Given the description of an element on the screen output the (x, y) to click on. 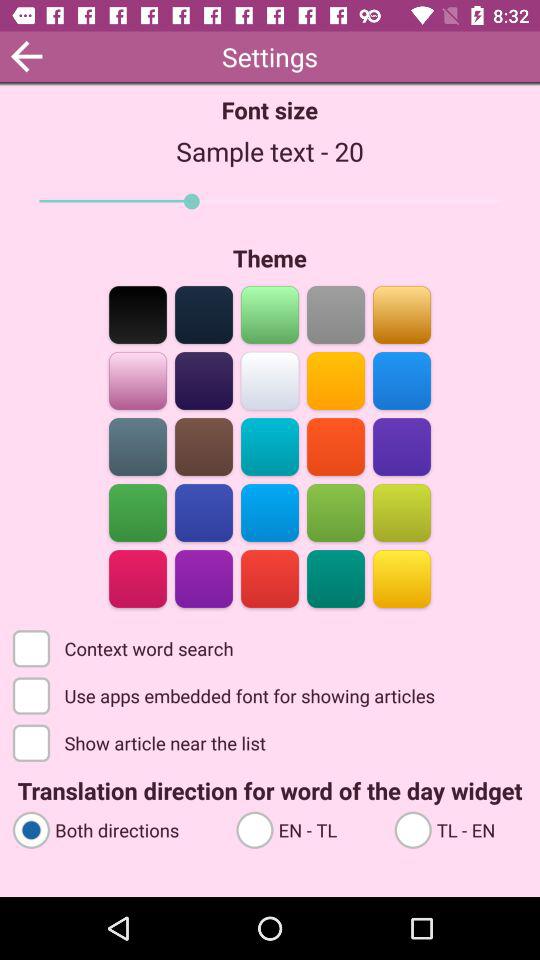
set it green (137, 511)
